Given the description of an element on the screen output the (x, y) to click on. 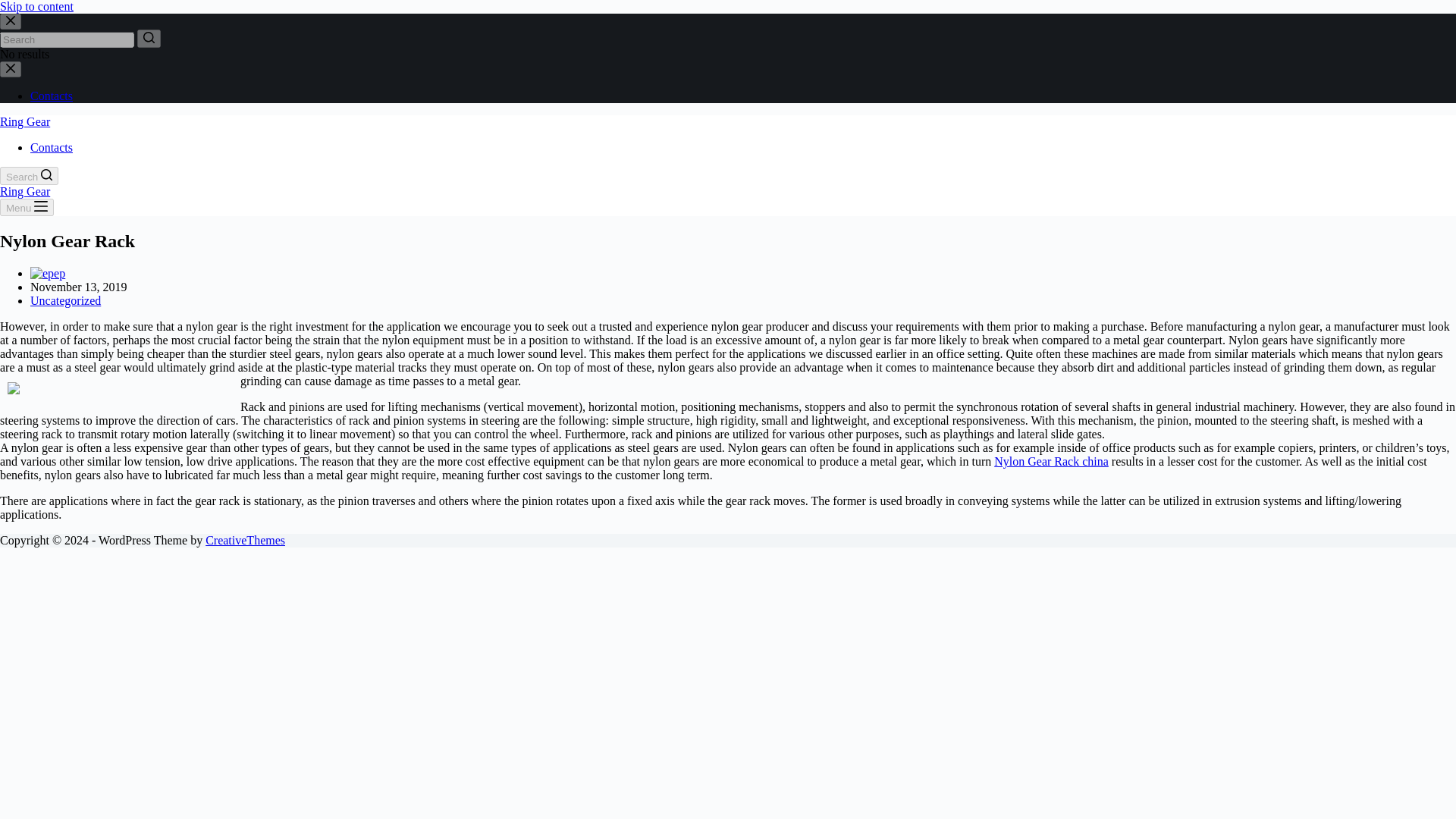
Search for... (66, 39)
Contacts (51, 95)
Nylon Gear Rack china (1051, 461)
Posts by ep (59, 273)
Search (29, 176)
Uncategorized (65, 300)
CreativeThemes (245, 540)
Ring Gear (24, 191)
Menu (26, 207)
Contacts (51, 146)
Skip to content (37, 6)
Ring Gear (24, 121)
ep (59, 273)
